Given the description of an element on the screen output the (x, y) to click on. 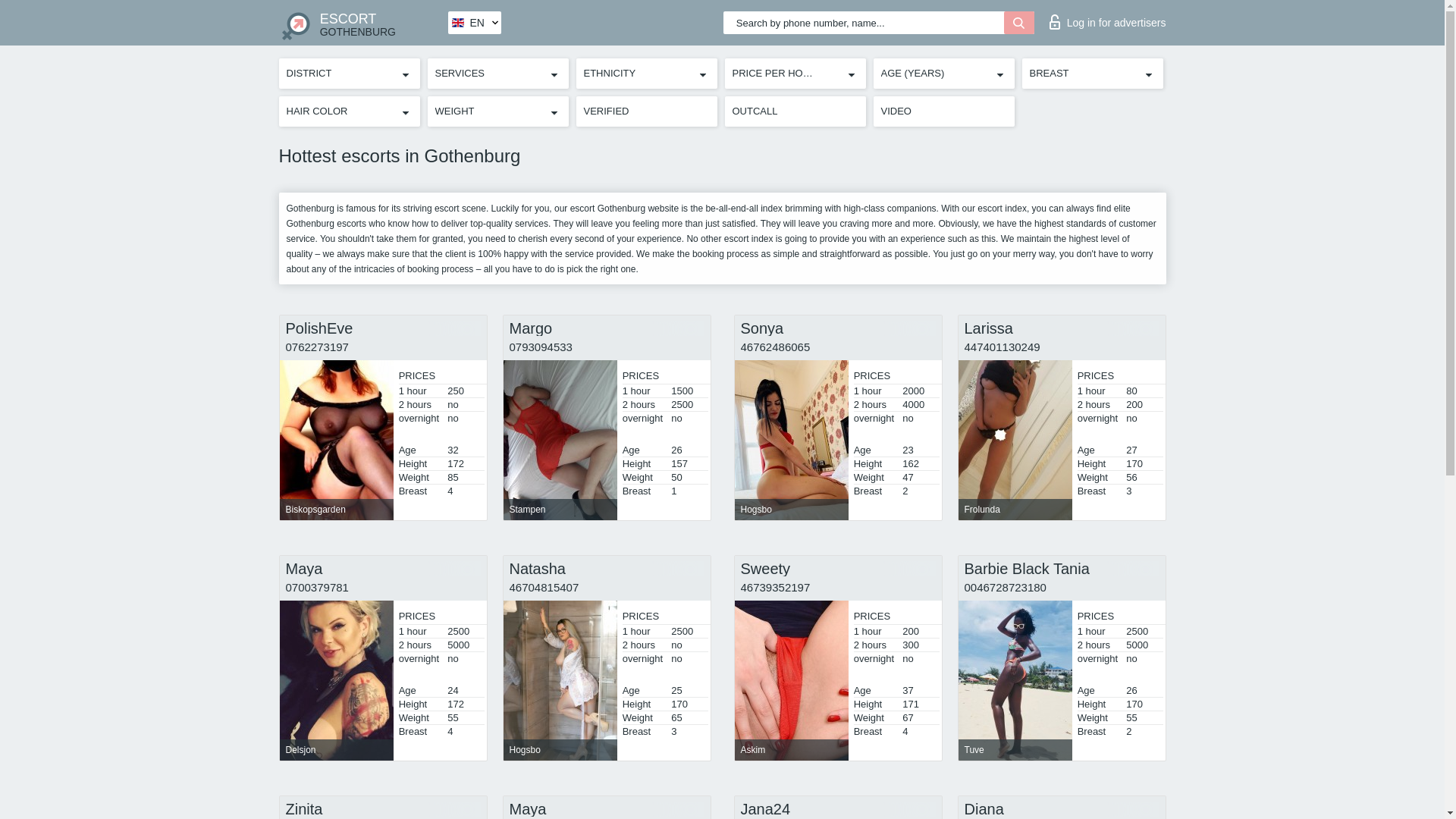
DISTRICT (349, 73)
Log in for advertisers (362, 22)
SERVICES (1107, 17)
